Given the description of an element on the screen output the (x, y) to click on. 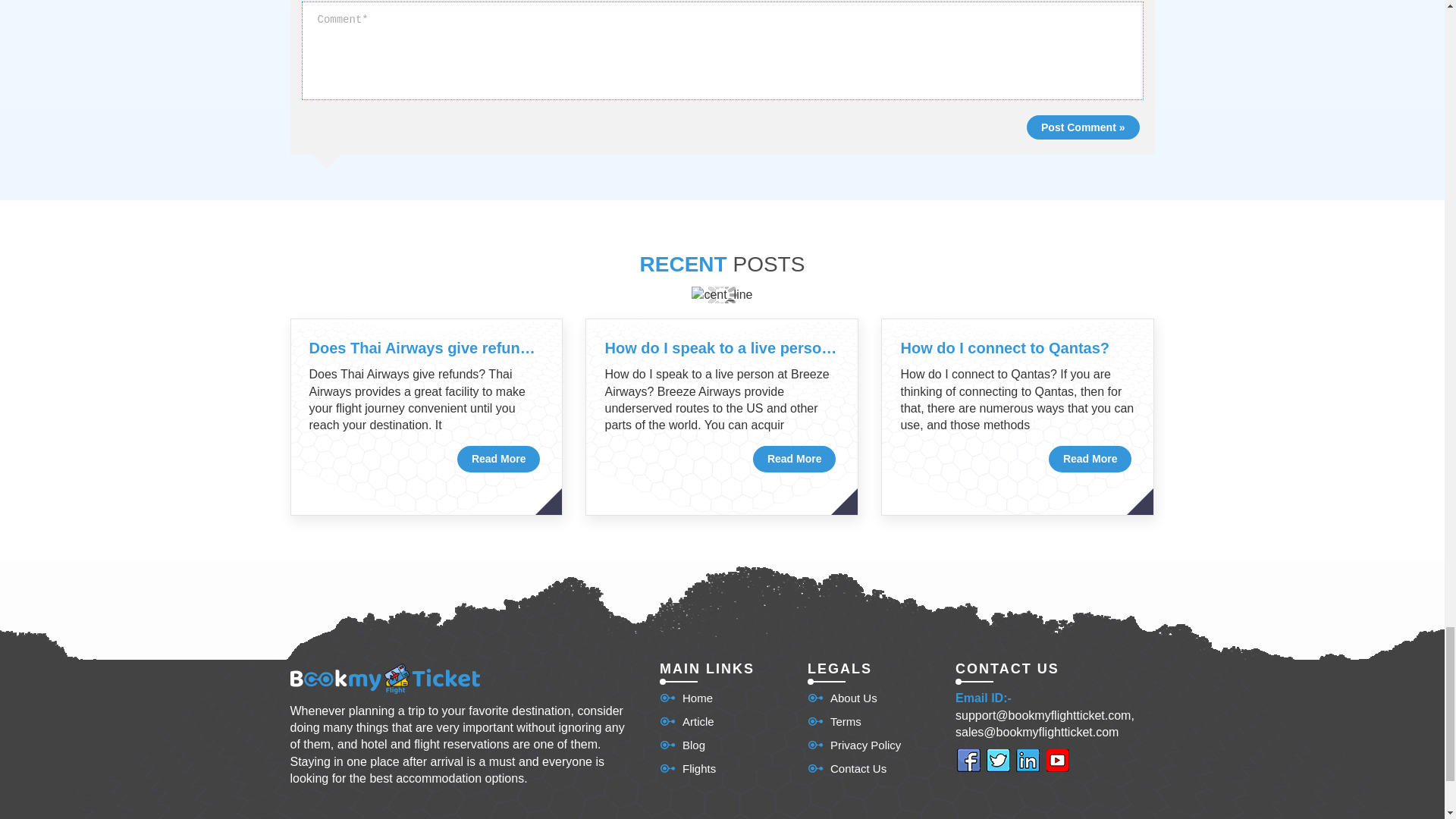
Flights (687, 768)
Privacy Policy (854, 744)
About Us (842, 697)
Blog (681, 744)
Article (686, 721)
Read More (498, 459)
Read More (793, 459)
Read More (1090, 459)
Contact Us (847, 768)
Home (686, 697)
Terms (834, 721)
